Given the description of an element on the screen output the (x, y) to click on. 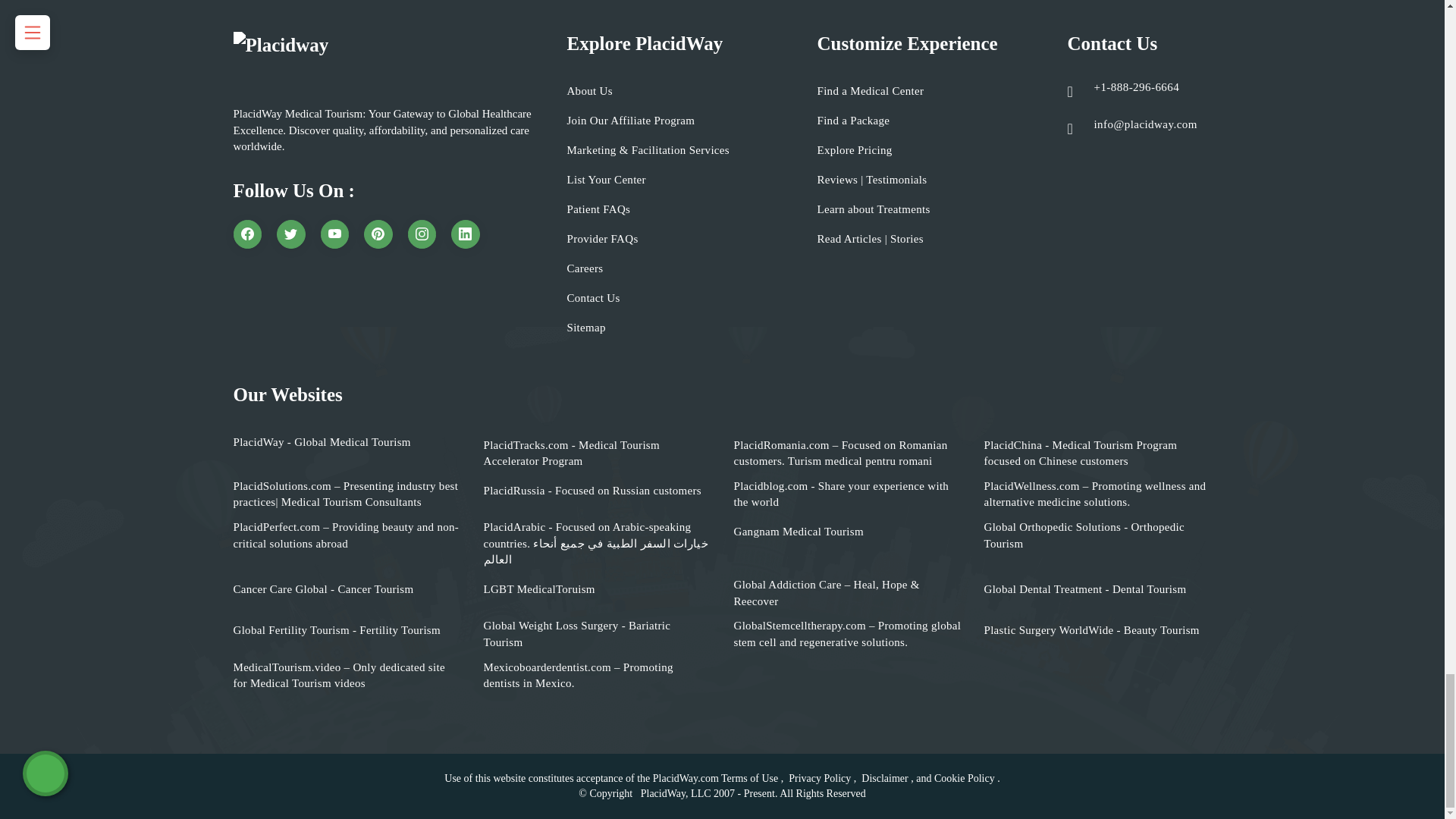
PlacidTracks.com - Medical Tourism Accelerator Program (597, 453)
Placidway's Twitter Account (290, 234)
Placidway's Youtube Account (334, 234)
Placidway's Instagram Account (421, 234)
Placidway's Pinterest Account (378, 234)
PlacidWay - Global Medical Tourism (321, 442)
Placidblog.com - Share your experience with the world (846, 494)
Placidway's facebook Account (247, 234)
PlacidRussia - Focused on Russian customers (592, 490)
Placidway's Linkedin Account (465, 234)
Gangnam Medical Tourism (798, 531)
